Given the description of an element on the screen output the (x, y) to click on. 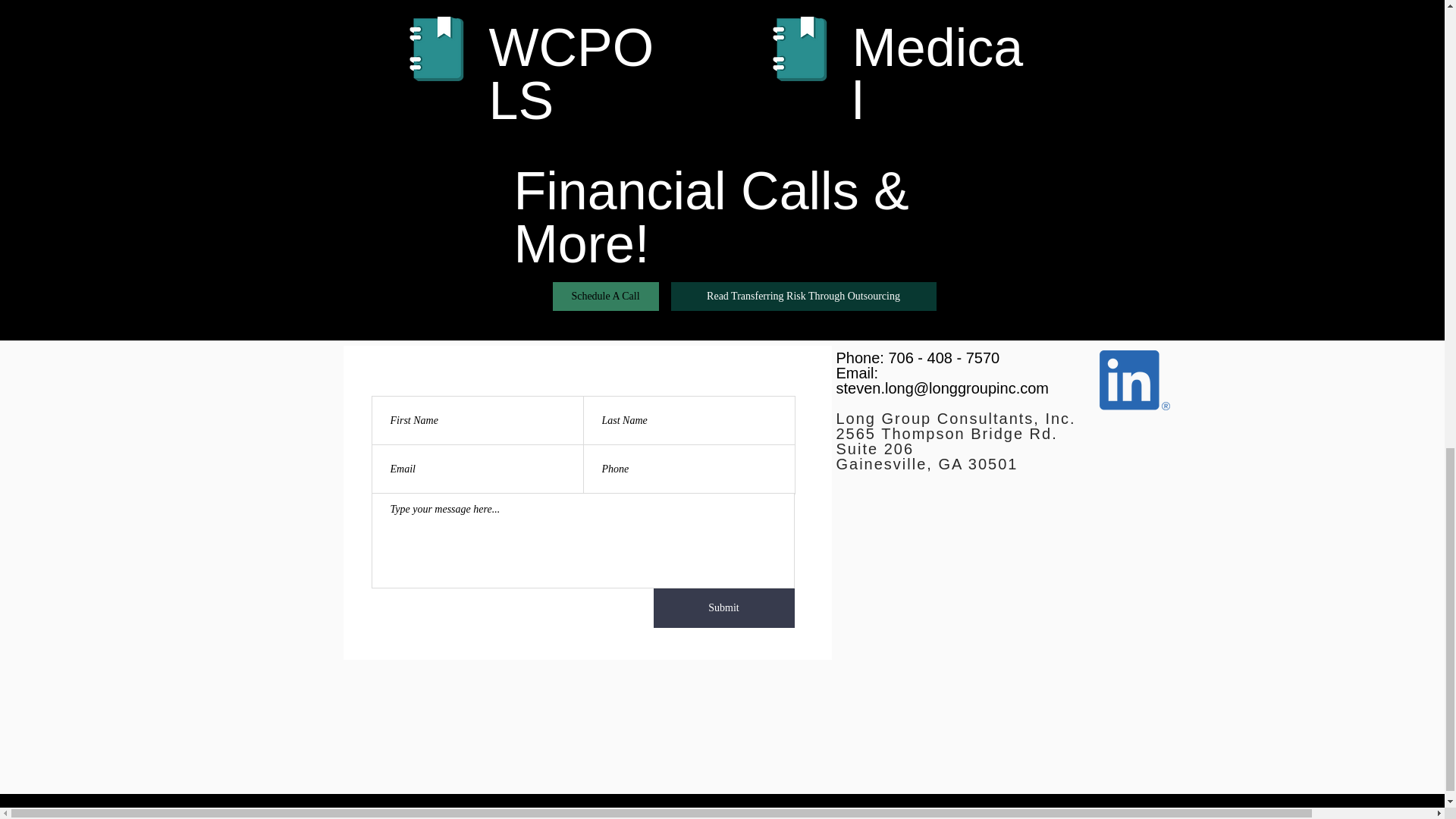
Schedule A Call (605, 296)
Read Transferring Risk Through Outsourcing (803, 296)
Submit (723, 608)
